Given the description of an element on the screen output the (x, y) to click on. 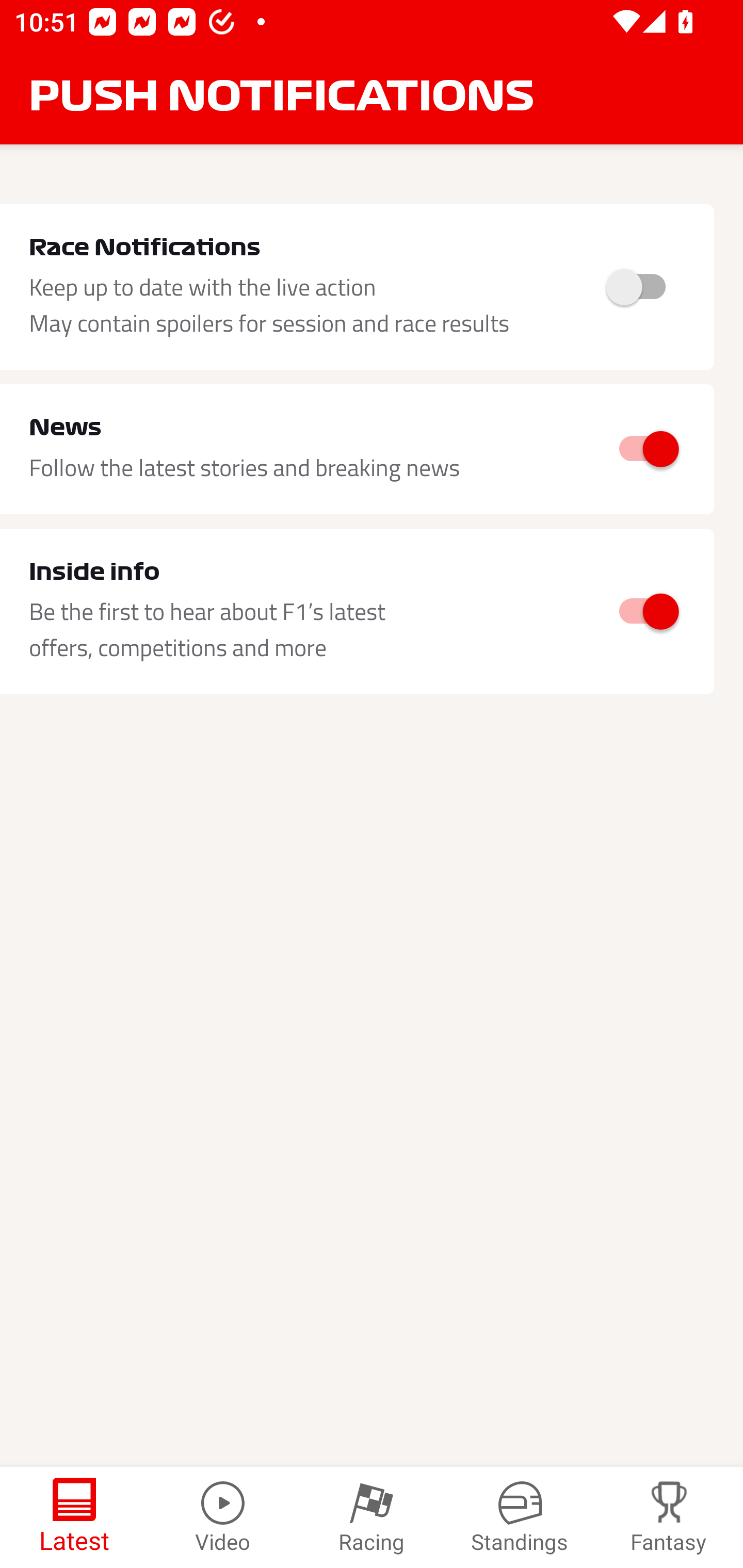
Video (222, 1517)
Racing (371, 1517)
Standings (519, 1517)
Fantasy (668, 1517)
